Given the description of an element on the screen output the (x, y) to click on. 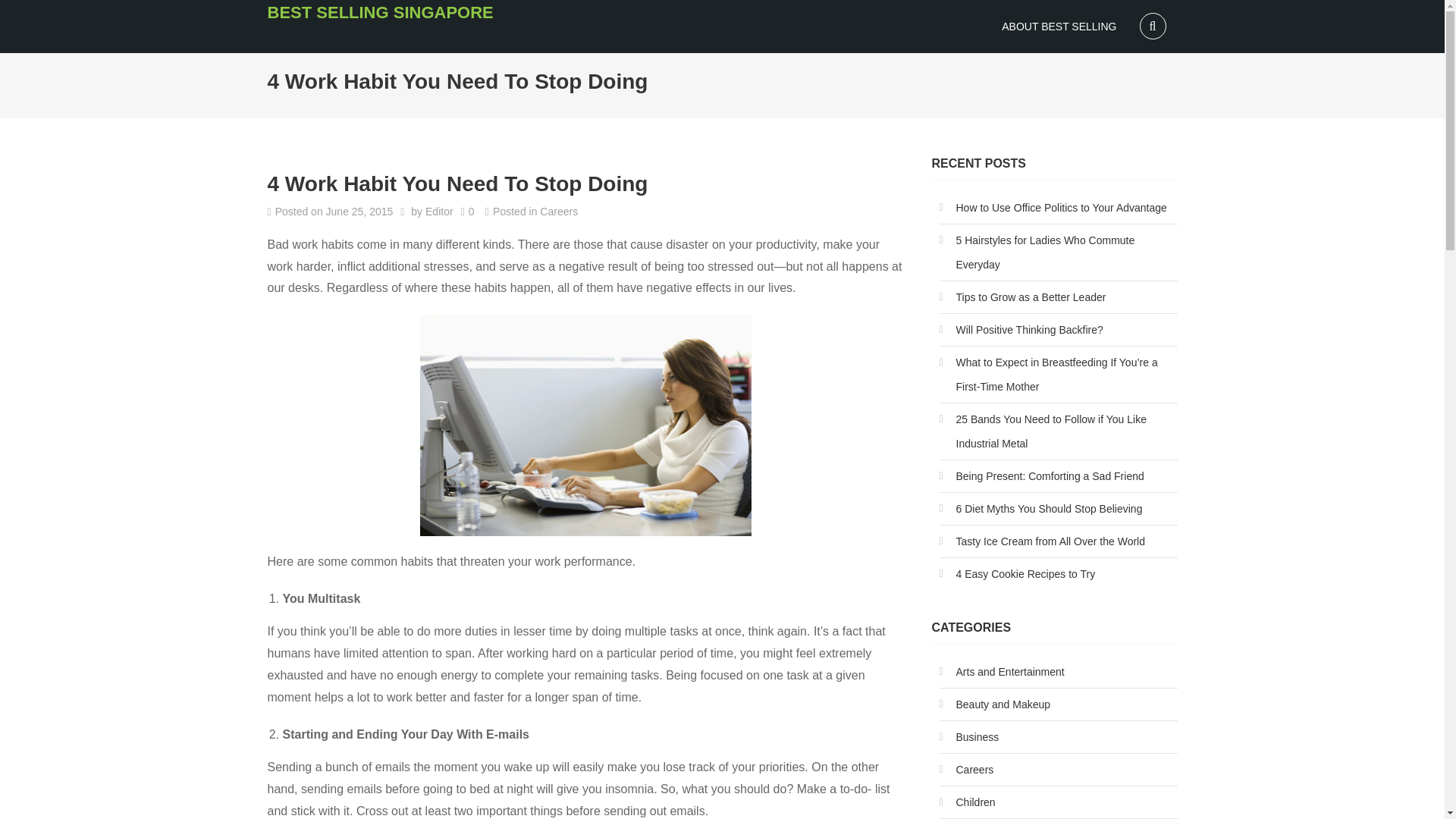
25 Bands You Need to Follow if You Like Industrial Metal (1057, 431)
Arts and Entertainment (1001, 671)
4 Easy Cookie Recipes to Try (1016, 573)
Tasty Ice Cream from All Over the World (1041, 541)
Careers (965, 769)
Being Present: Comforting a Sad Friend (1040, 476)
Beauty and Makeup (994, 704)
5 Hairstyles for Ladies Who Commute Everyday (1057, 252)
How to Use Office Politics to Your Advantage (1052, 207)
Tips to Grow as a Better Leader (1022, 297)
Children (966, 802)
6 Diet Myths You Should Stop Believing (1040, 508)
Search (29, 12)
Will Positive Thinking Backfire? (1020, 329)
Careers (559, 211)
